Given the description of an element on the screen output the (x, y) to click on. 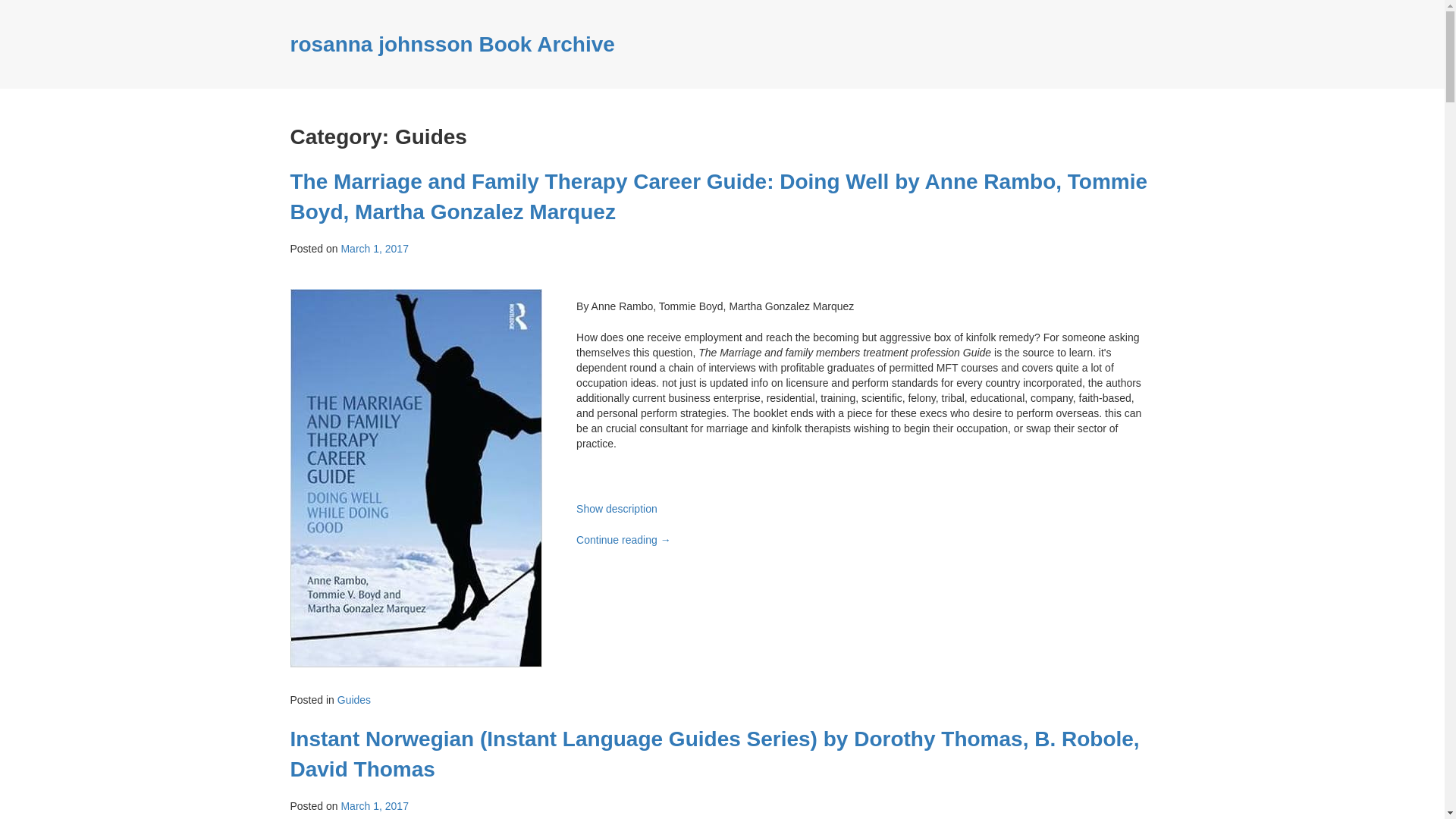
March 1, 2017 (374, 248)
Show description (617, 508)
March 1, 2017 (374, 806)
rosanna johnsson Book Archive (451, 44)
Guides (354, 699)
